Given the description of an element on the screen output the (x, y) to click on. 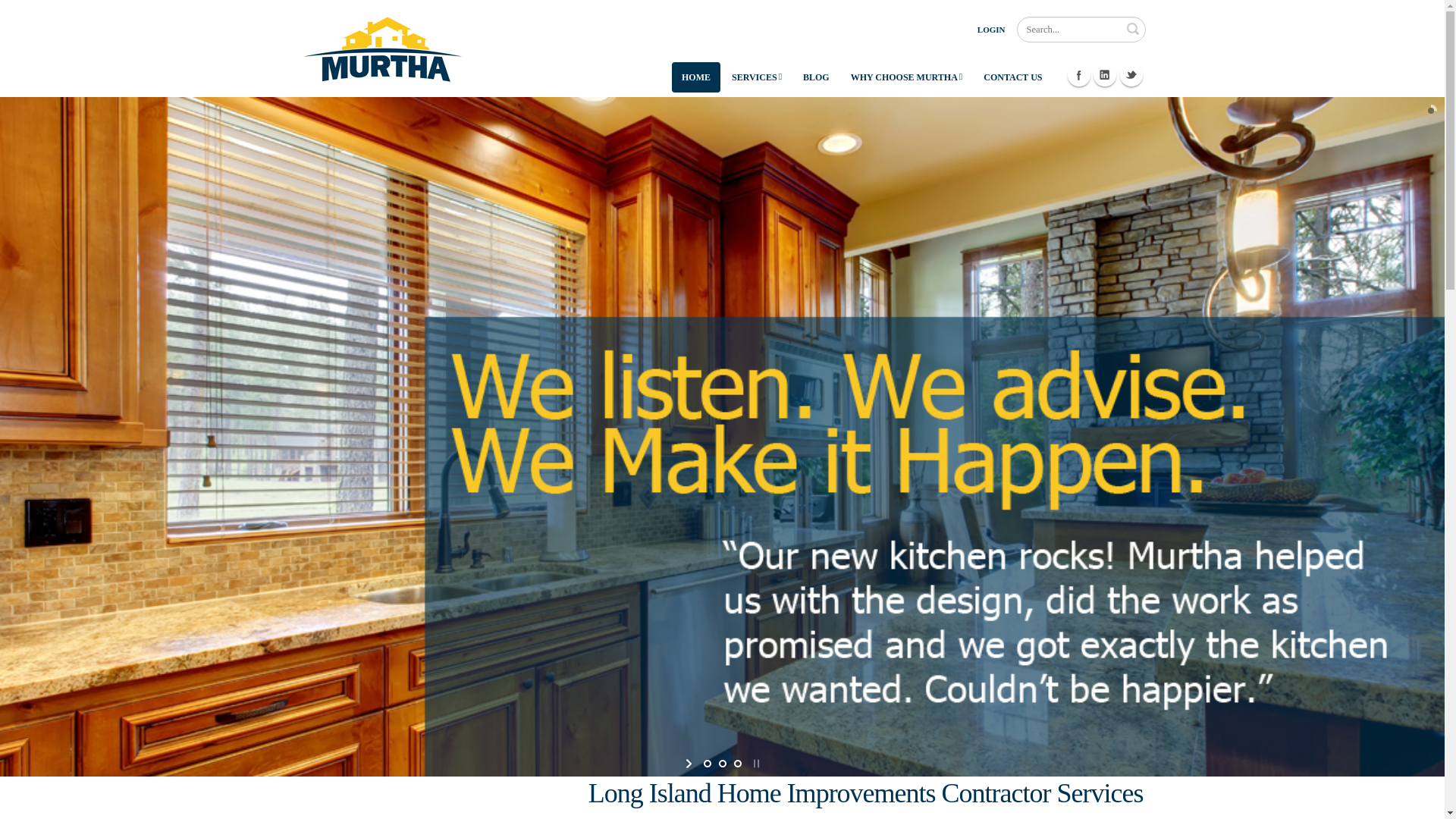
LOGIN (991, 29)
Facebook (1078, 74)
start (690, 762)
BLOG (816, 77)
stop (753, 762)
3 (736, 762)
Linkedin (1104, 74)
CONTACT US (1012, 77)
WHY CHOOSE MURTHA (906, 77)
2 (721, 762)
SERVICES (757, 77)
Murtha Construction (382, 46)
Linkedin Icon (1104, 74)
Facebook Icon (1078, 74)
1 (706, 762)
